Given the description of an element on the screen output the (x, y) to click on. 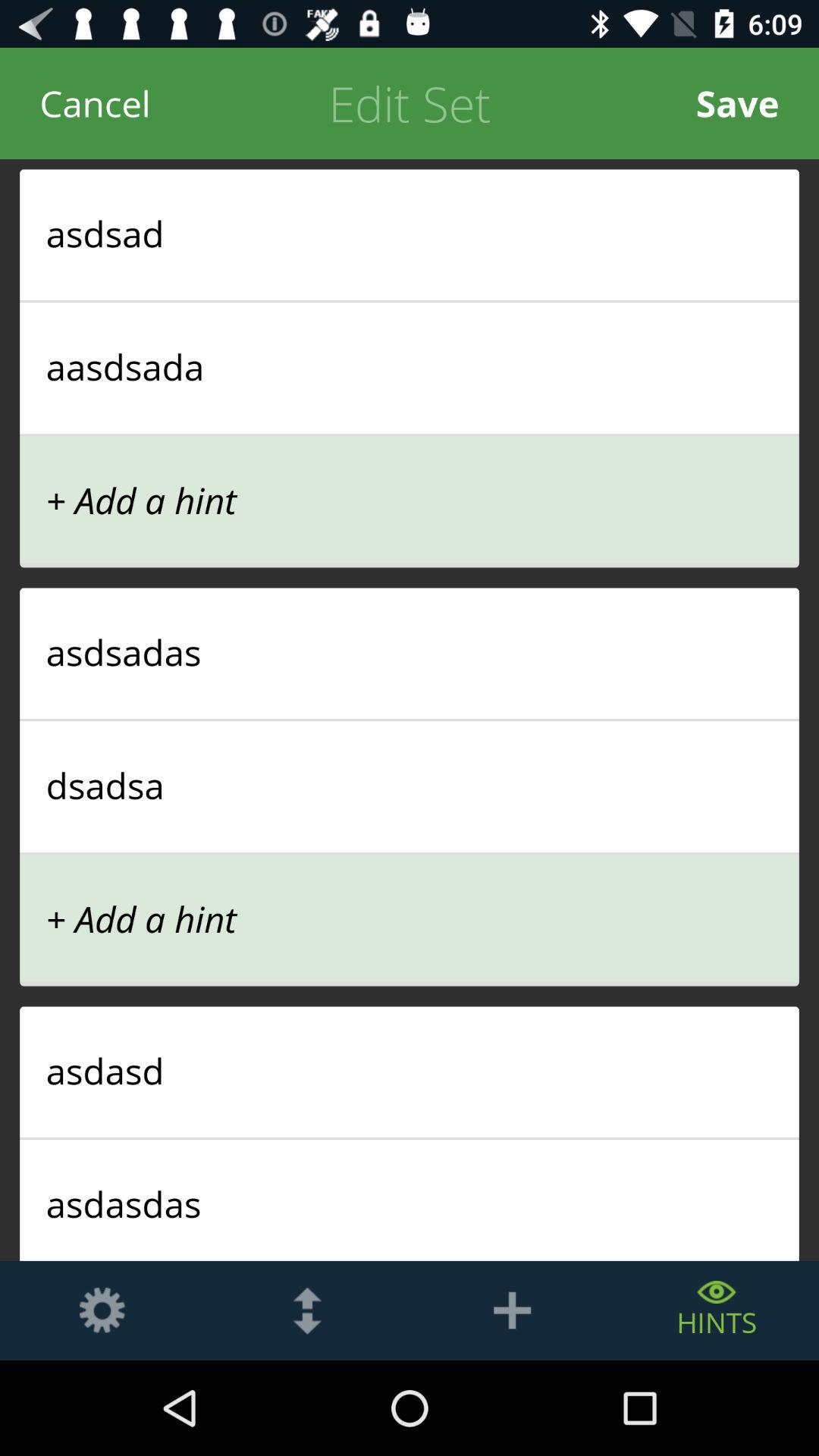
scroll up and down (306, 1310)
